Given the description of an element on the screen output the (x, y) to click on. 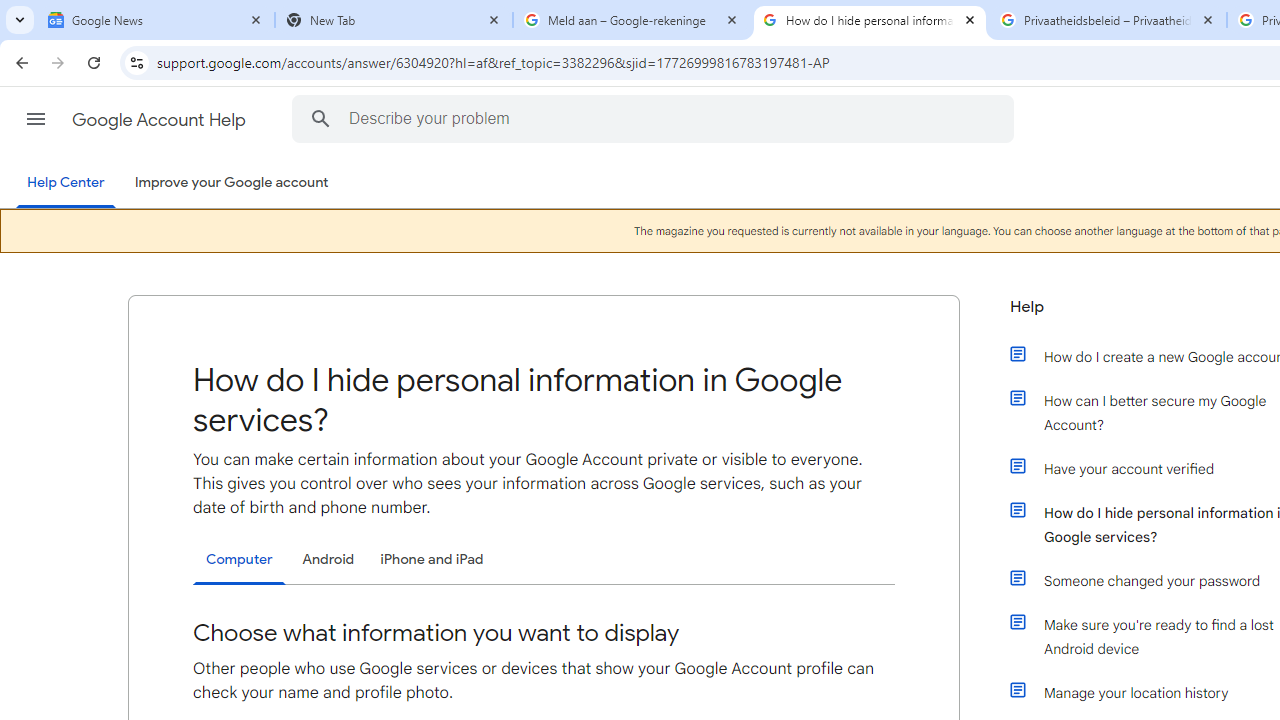
Search the Help Center (320, 118)
New Tab (394, 20)
Describe your problem (655, 118)
Google News (156, 20)
